Given the description of an element on the screen output the (x, y) to click on. 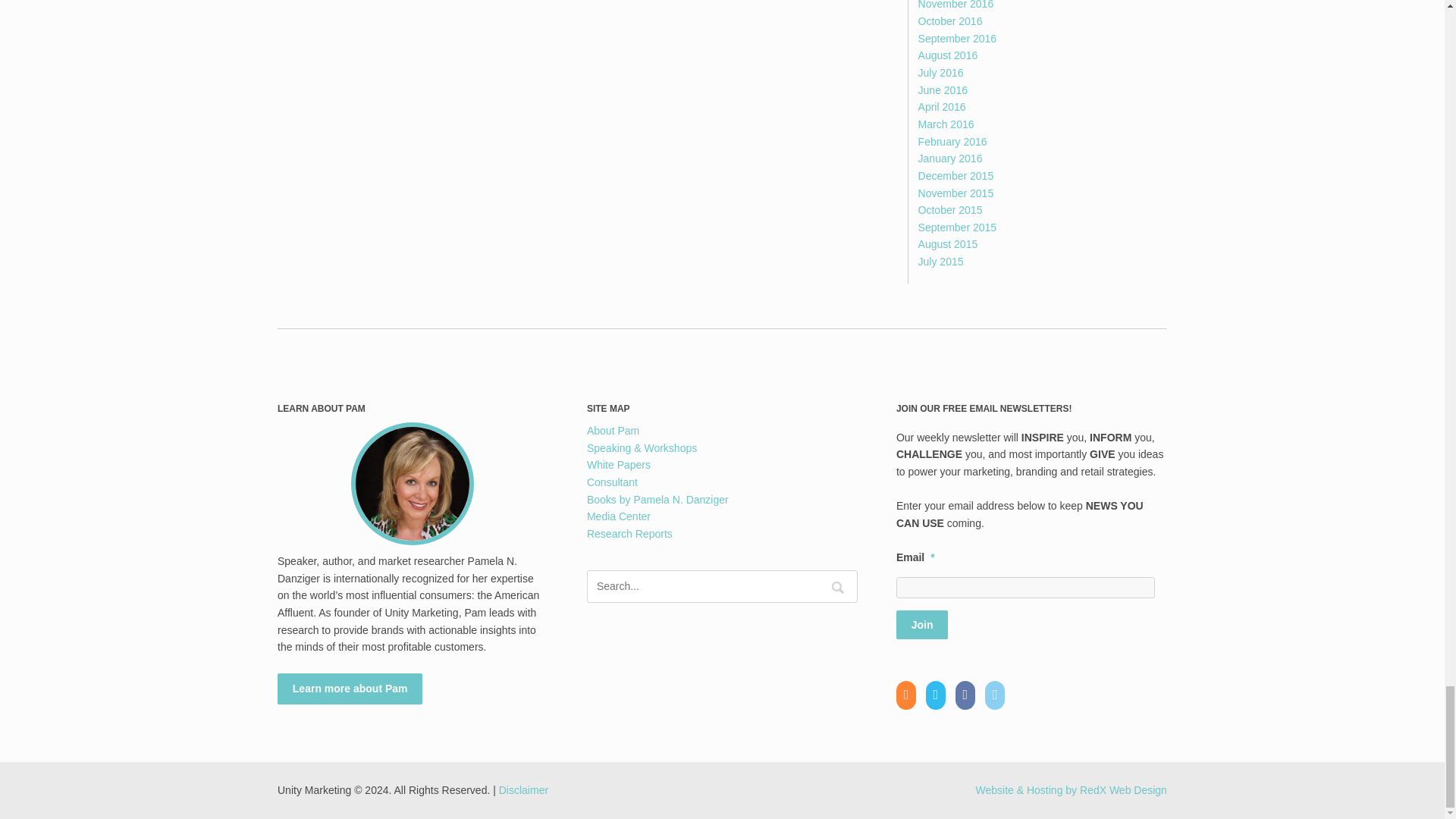
Join (921, 624)
Search (836, 588)
Search (836, 588)
